Given the description of an element on the screen output the (x, y) to click on. 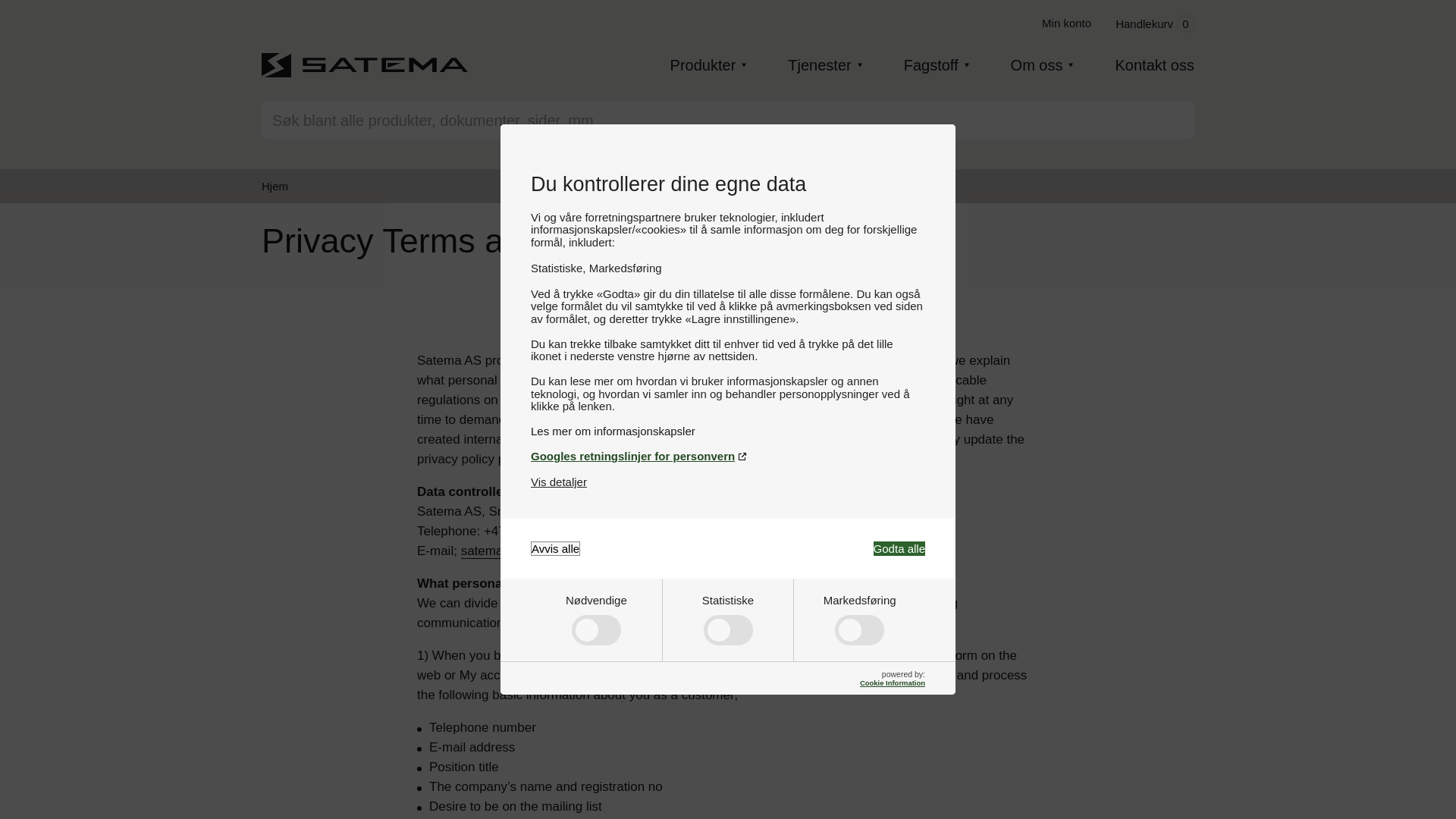
Les mer om informasjonskapsler (727, 431)
Godta alle (898, 548)
Googles retningslinjer for personvern (727, 455)
Cookie Information (892, 682)
Vis detaljer (1154, 23)
Avvis alle (558, 481)
Min konto (555, 548)
